Given the description of an element on the screen output the (x, y) to click on. 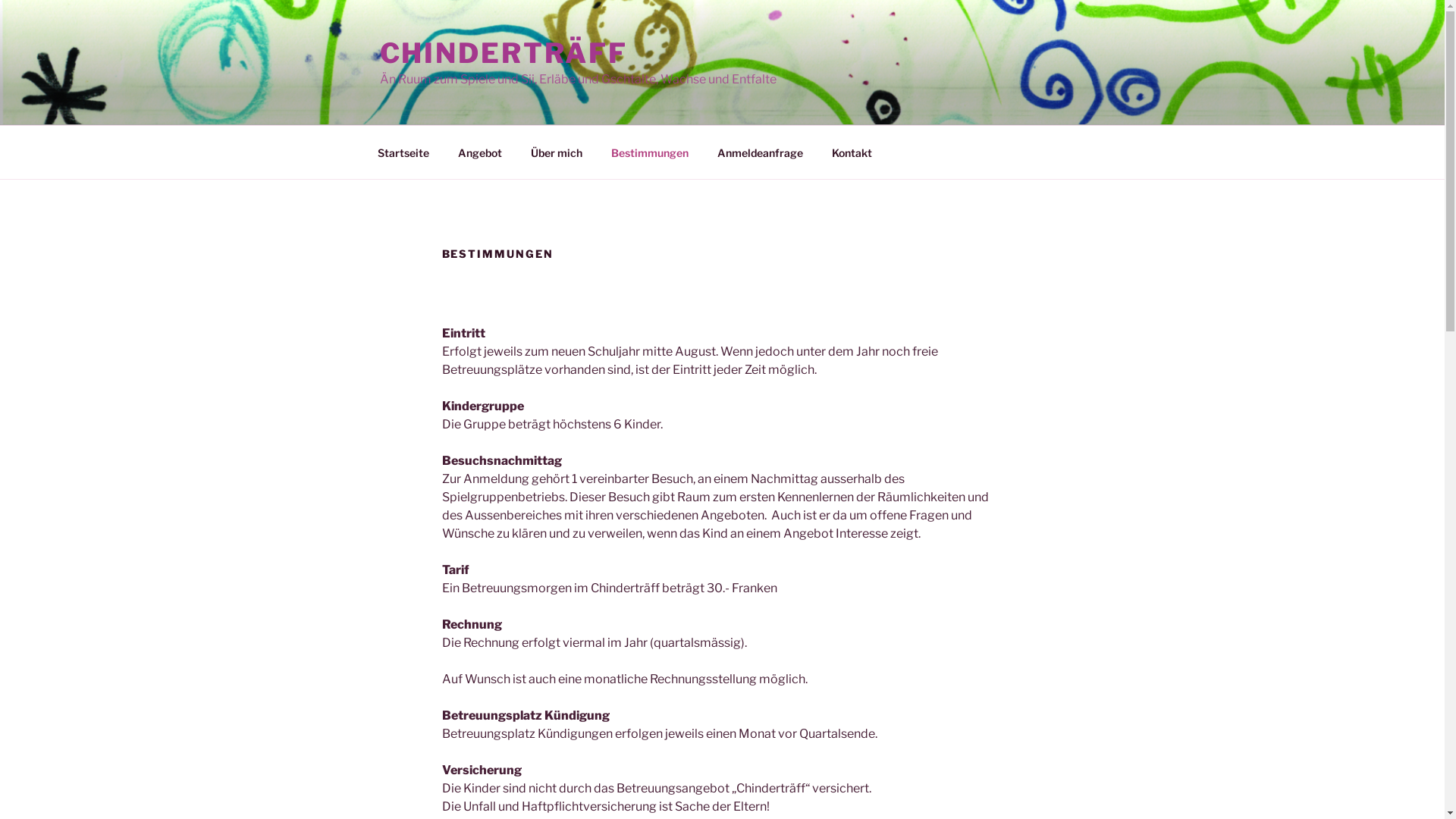
Kontakt Element type: text (852, 151)
Bestimmungen Element type: text (649, 151)
Startseite Element type: text (403, 151)
Angebot Element type: text (479, 151)
Anmeldeanfrage Element type: text (759, 151)
